Given the description of an element on the screen output the (x, y) to click on. 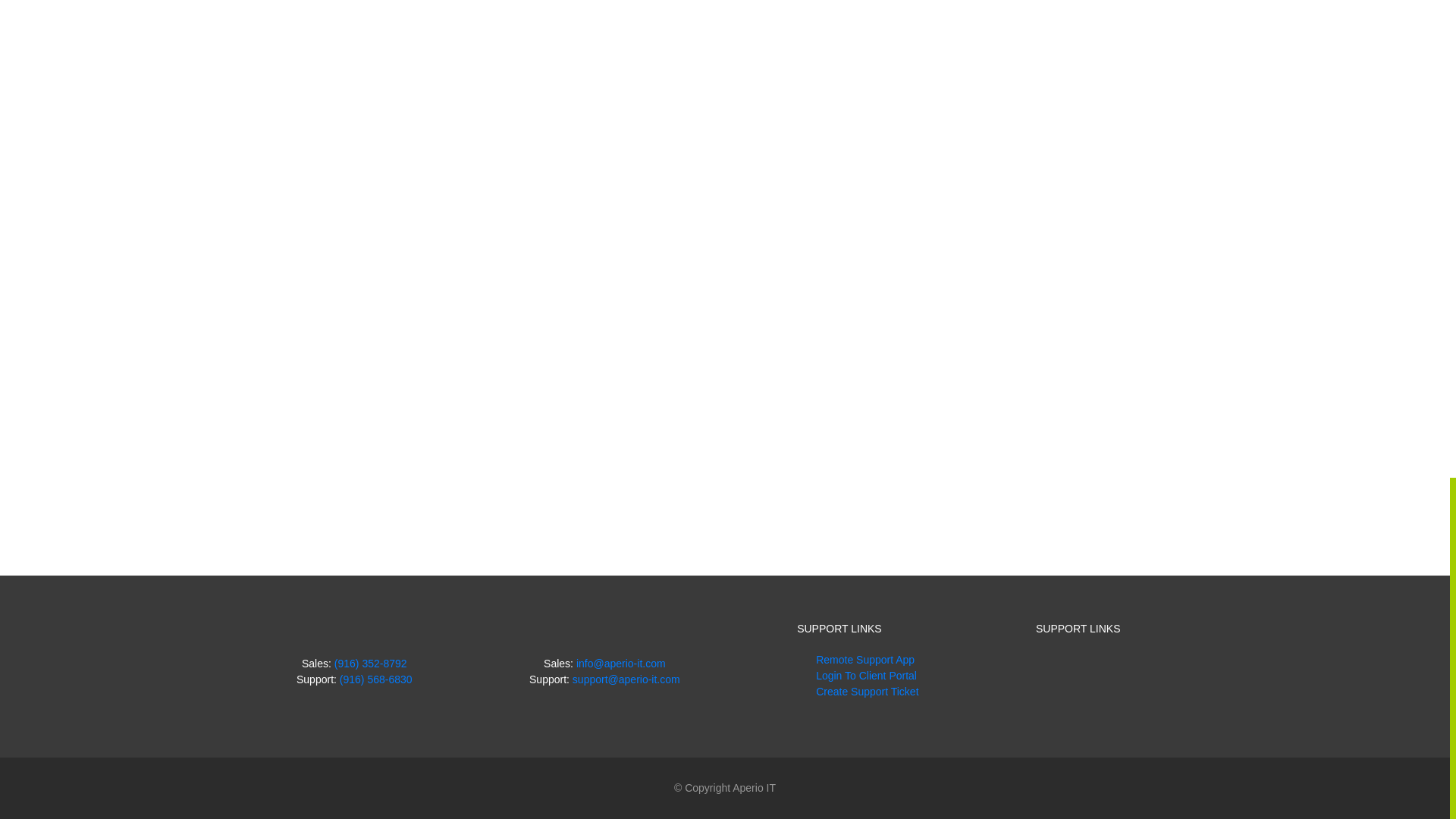
Remote Support App (864, 659)
Login To Client Portal (866, 675)
Create Support Ticket (866, 691)
